Given the description of an element on the screen output the (x, y) to click on. 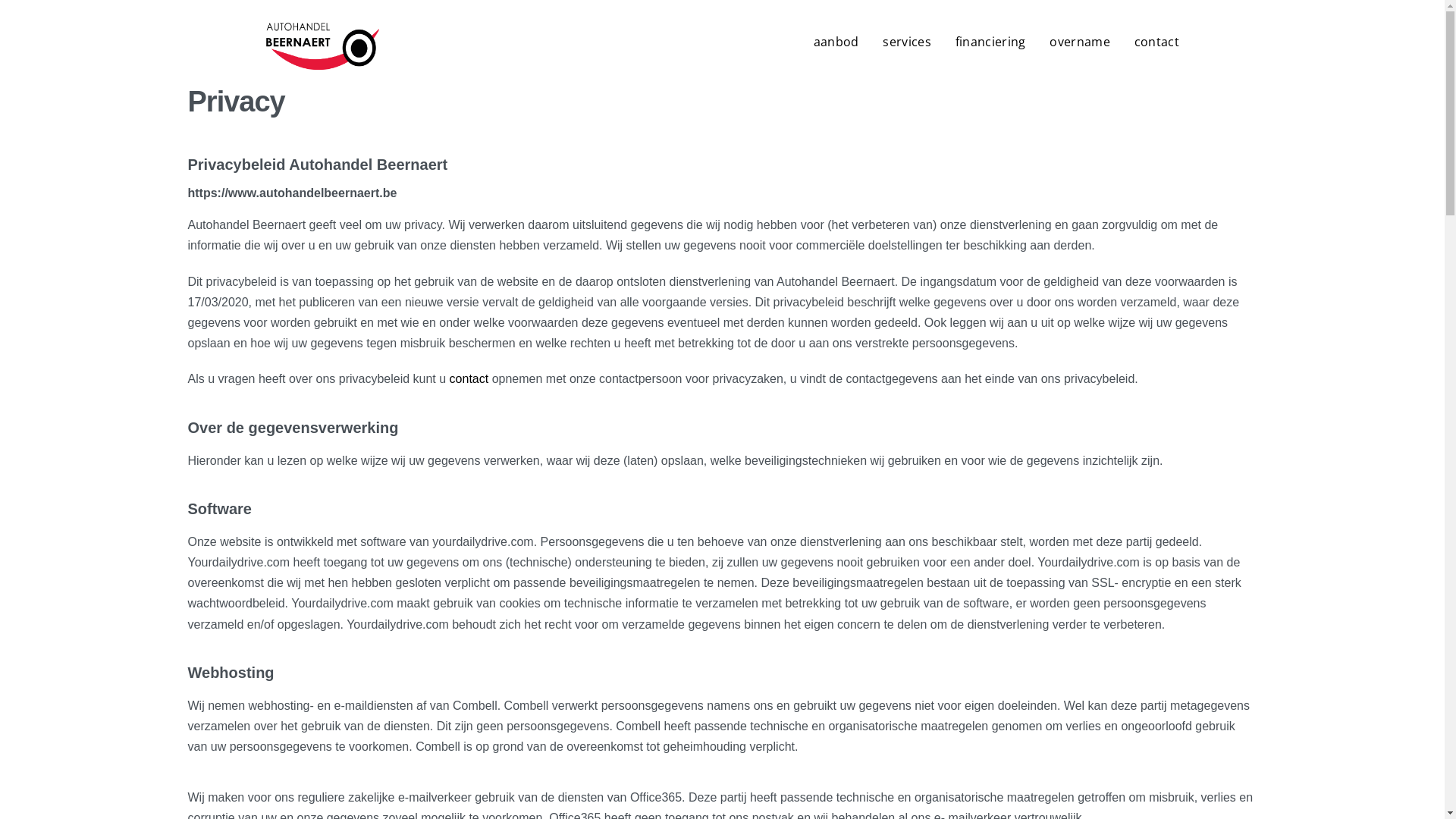
aanbod Element type: text (836, 41)
services Element type: text (906, 41)
contact Element type: text (1156, 41)
financiering Element type: text (990, 41)
contact Element type: text (469, 378)
overname Element type: text (1079, 41)
